Given the description of an element on the screen output the (x, y) to click on. 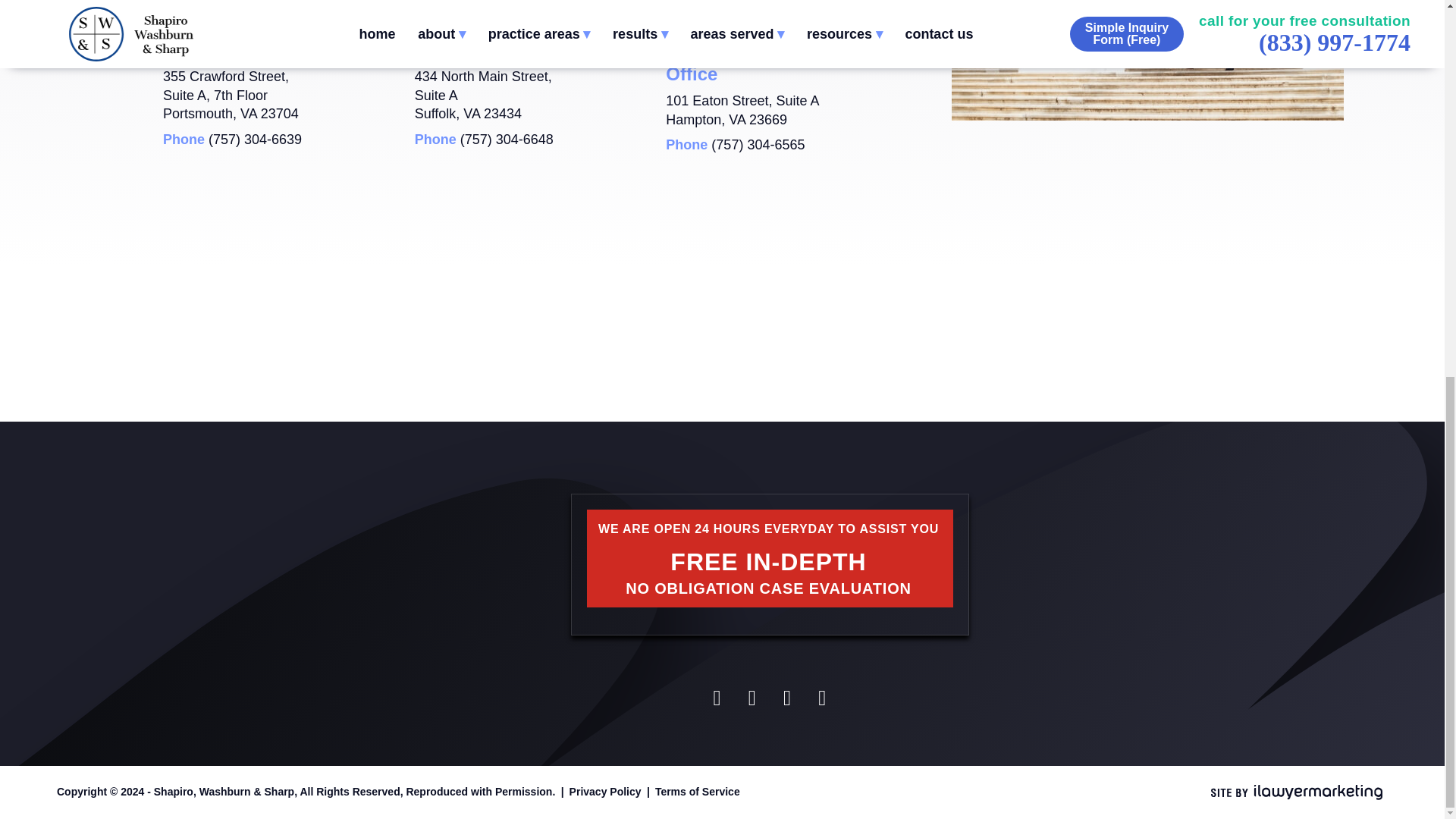
Phone (758, 144)
Phone (254, 139)
Phone (506, 139)
